Given the description of an element on the screen output the (x, y) to click on. 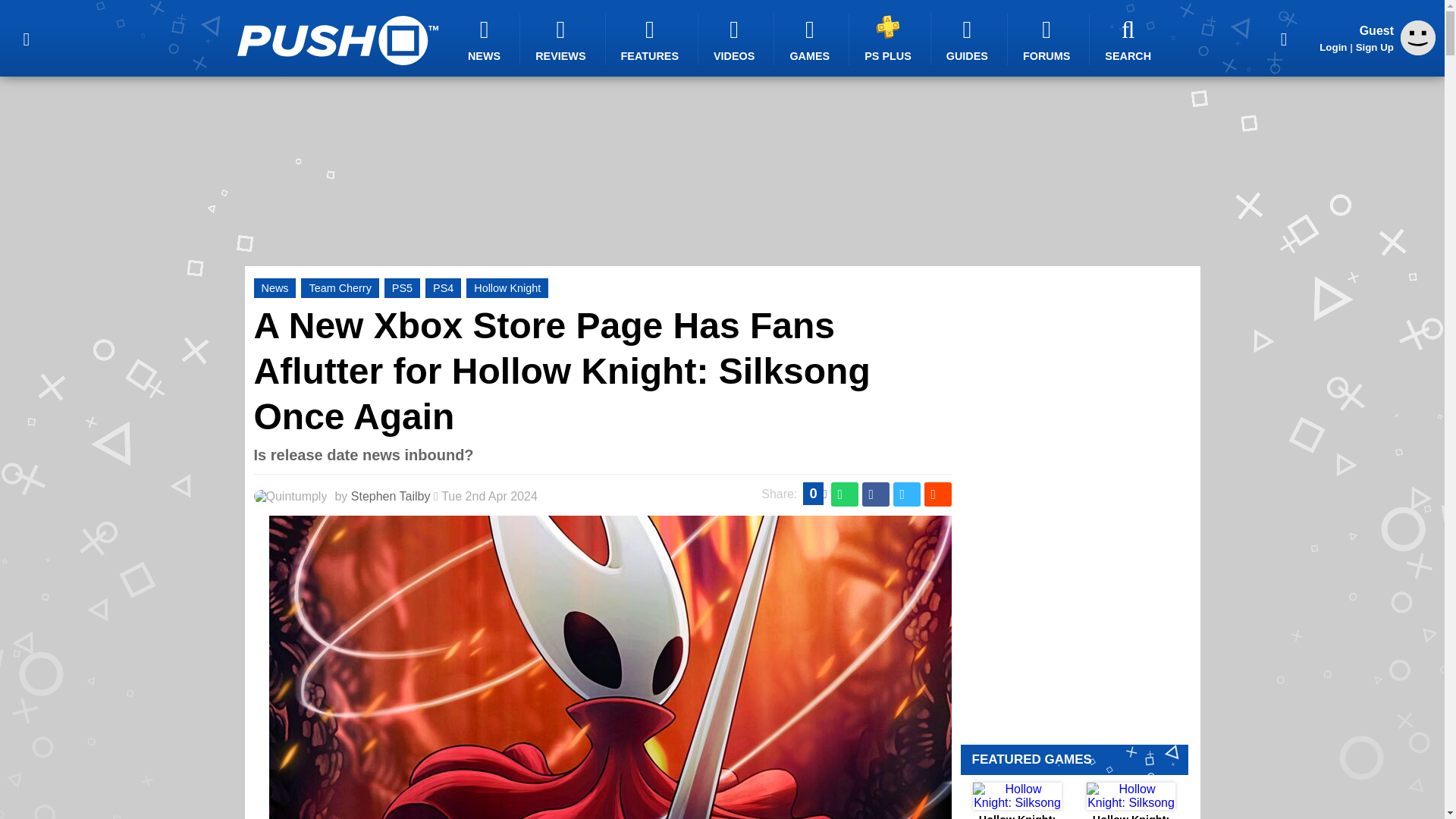
FORUMS (1048, 39)
SEARCH (1129, 39)
Guest (1417, 51)
PS4 (443, 288)
Share This Page (1283, 37)
Push Square (336, 40)
Guest (1417, 37)
PS PLUS (889, 38)
Share this on Reddit (936, 494)
Share this on WhatsApp (845, 494)
Push Square (336, 40)
GAMES (811, 39)
Sign Up (1374, 47)
Share this on Twitter (906, 494)
GUIDES (969, 39)
